Given the description of an element on the screen output the (x, y) to click on. 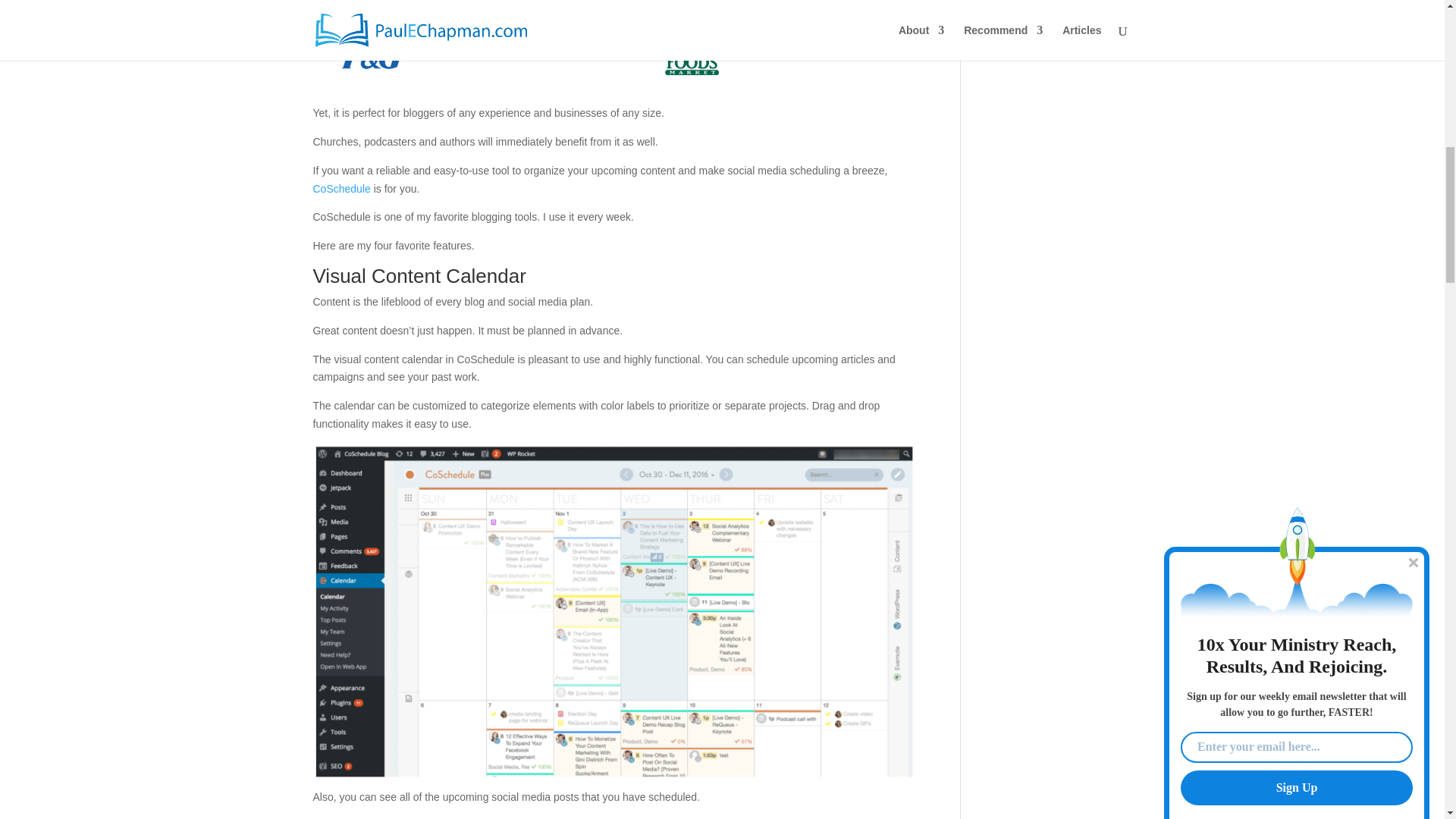
CoSchedule (341, 188)
